Given the description of an element on the screen output the (x, y) to click on. 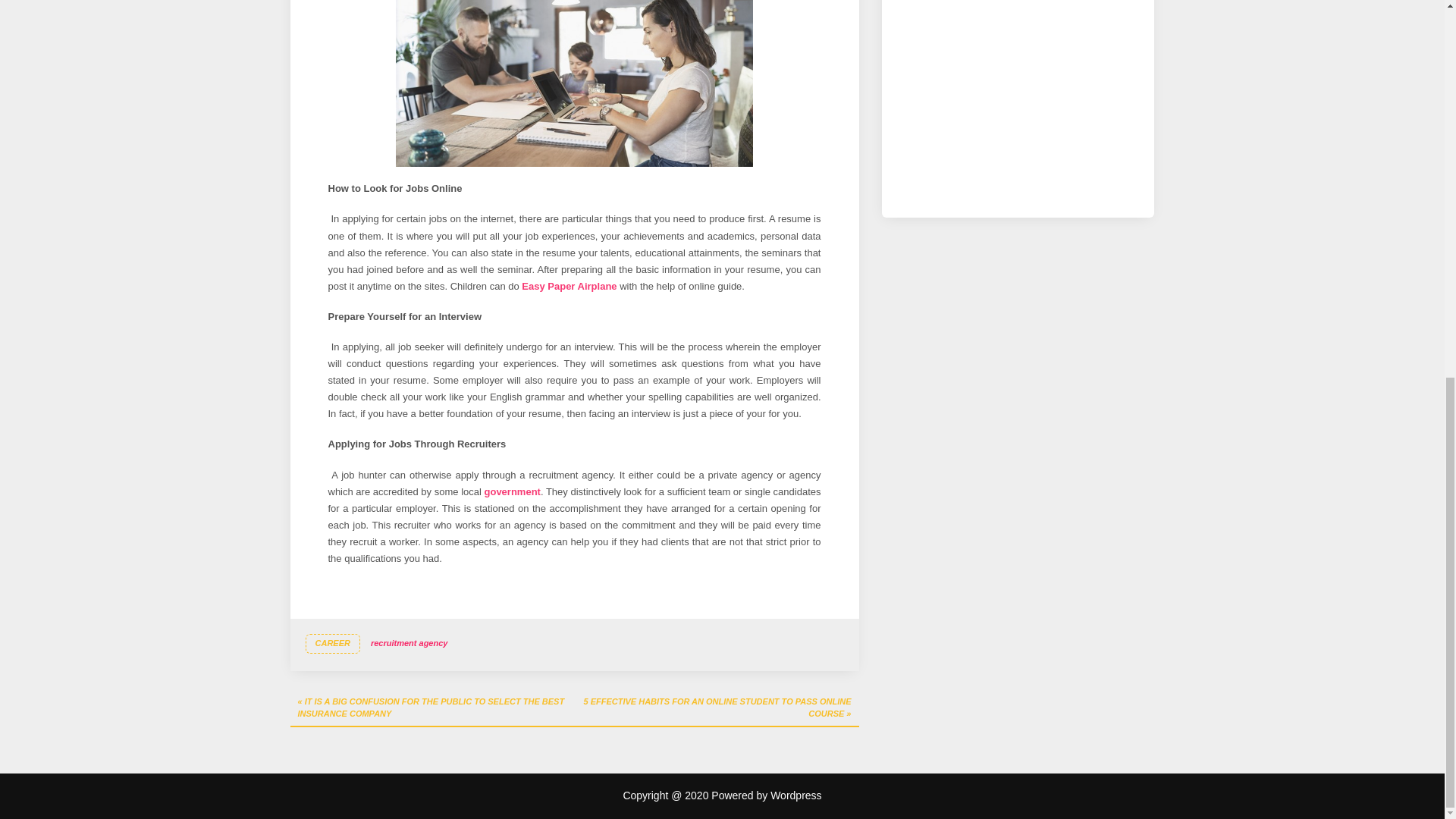
recruitment agency (408, 643)
government (511, 491)
Easy Paper Airplane (568, 285)
CAREER (331, 643)
